Given the description of an element on the screen output the (x, y) to click on. 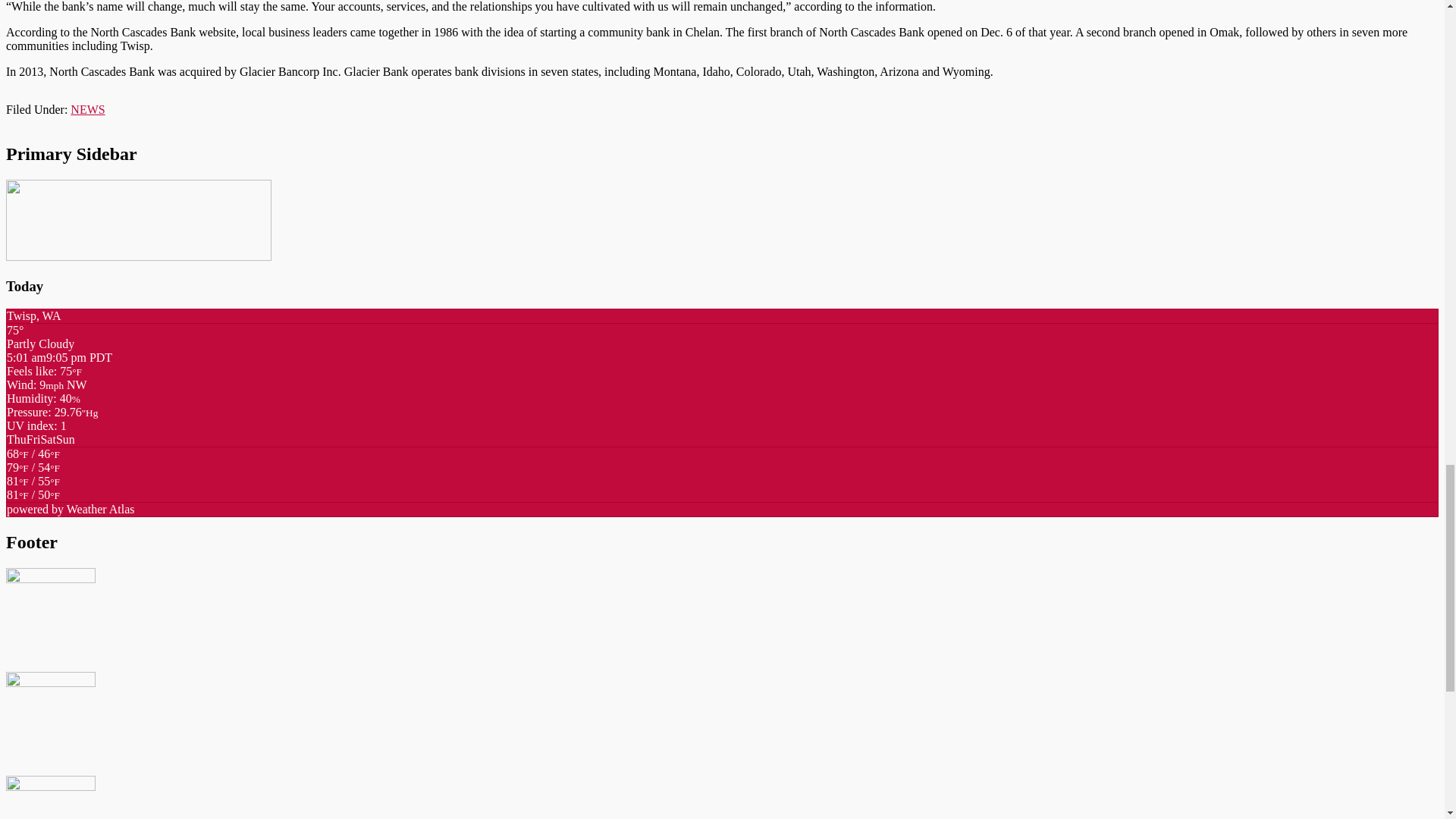
Mostly Sunny (33, 474)
Mostly Cloudy (33, 488)
Mostly Cloudy (33, 460)
Partly Cloudy (33, 494)
